Given the description of an element on the screen output the (x, y) to click on. 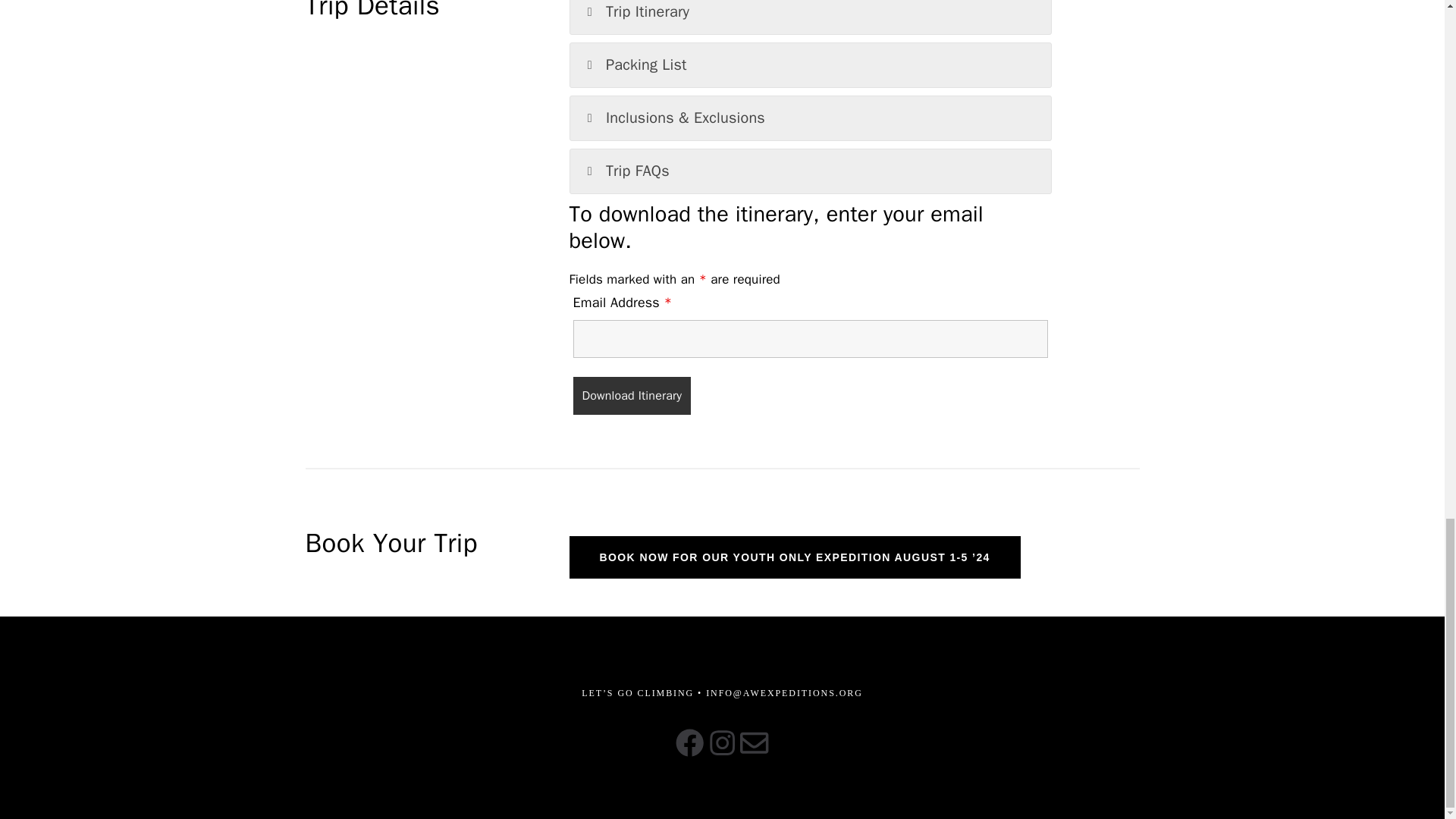
Download Itinerary (632, 395)
Trip Itinerary (810, 17)
Packing List (810, 64)
Trip FAQs (810, 171)
Download Itinerary (632, 395)
